Given the description of an element on the screen output the (x, y) to click on. 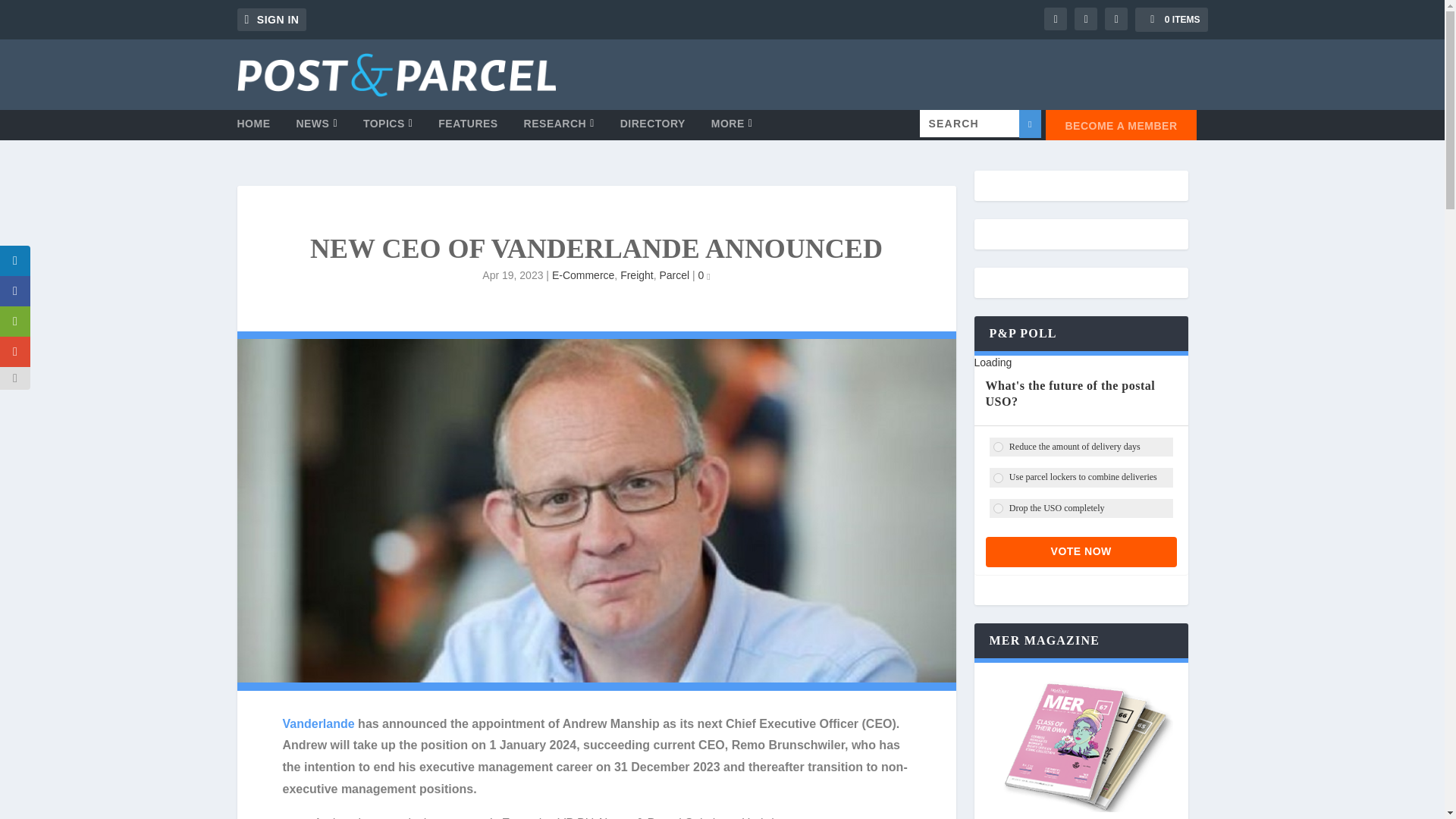
TOPICS (387, 128)
281 (997, 478)
FEATURES (467, 128)
SIGN IN (270, 19)
0 ITEMS (1171, 19)
0 Items in Cart (1171, 19)
280 (997, 447)
HOME (252, 128)
282 (997, 508)
NEWS (316, 128)
